Given the description of an element on the screen output the (x, y) to click on. 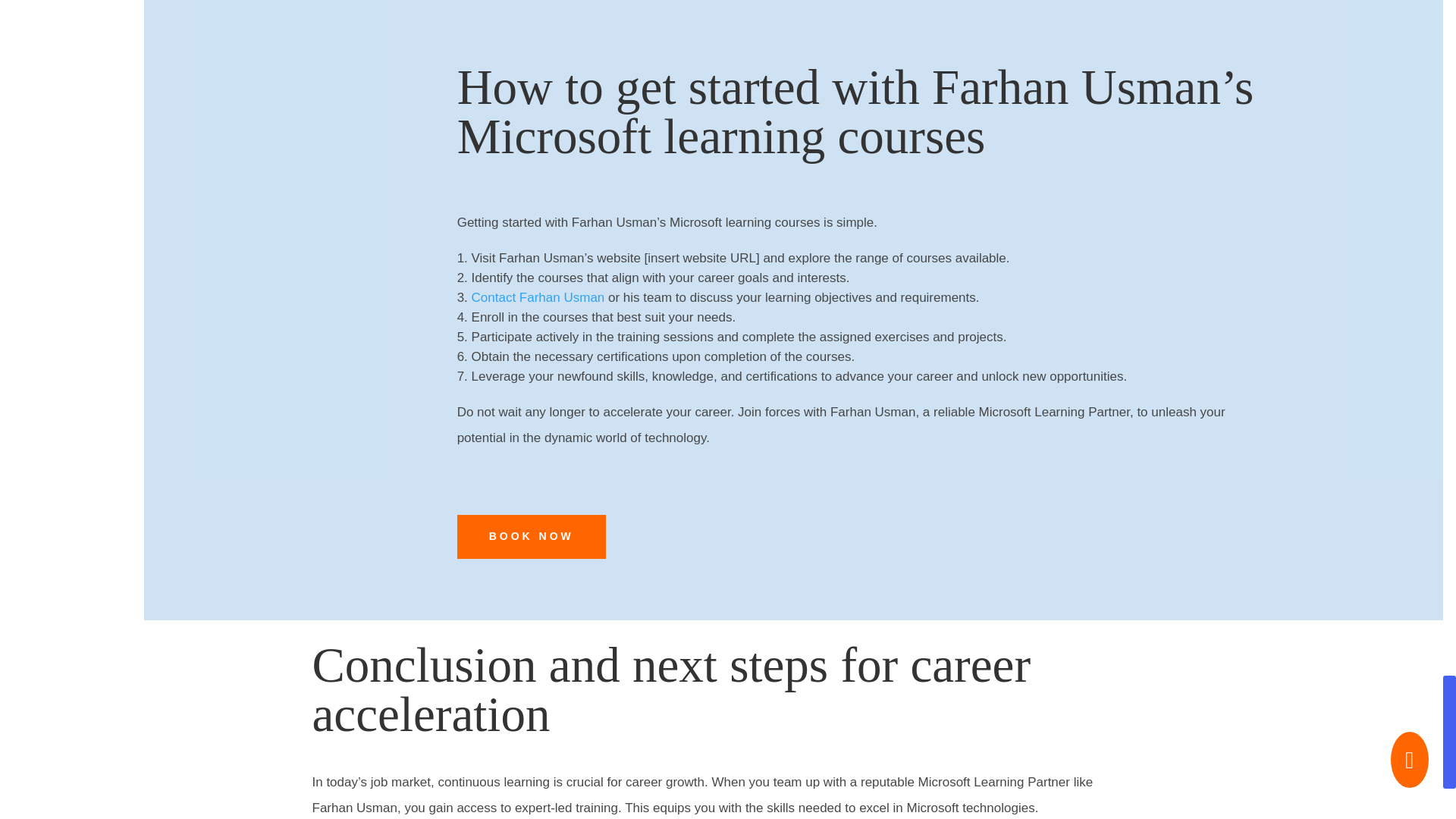
BOOK NOW (531, 536)
Contact Farhan Usman (538, 297)
